Given the description of an element on the screen output the (x, y) to click on. 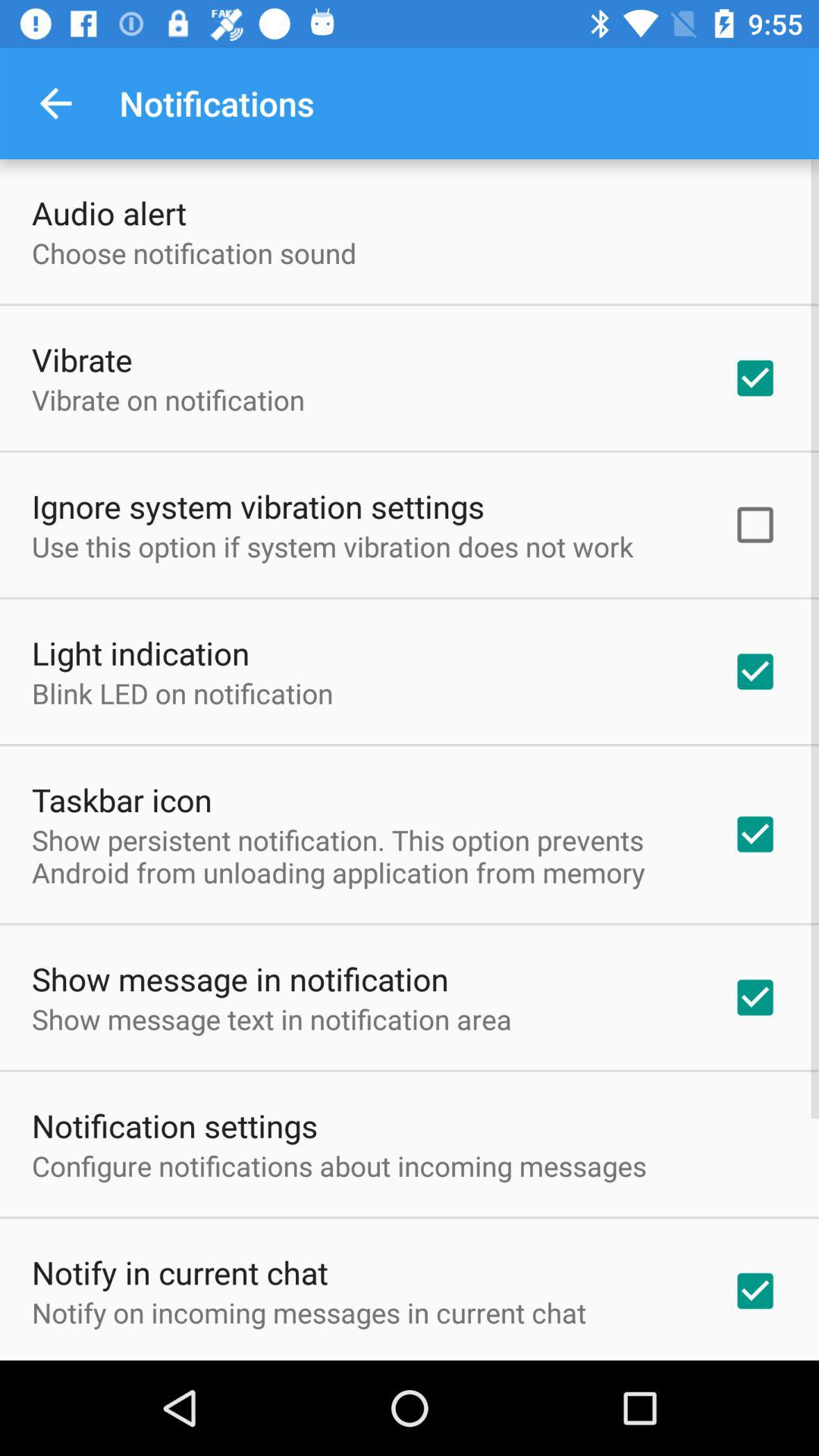
click choose notification sound (193, 252)
